Given the description of an element on the screen output the (x, y) to click on. 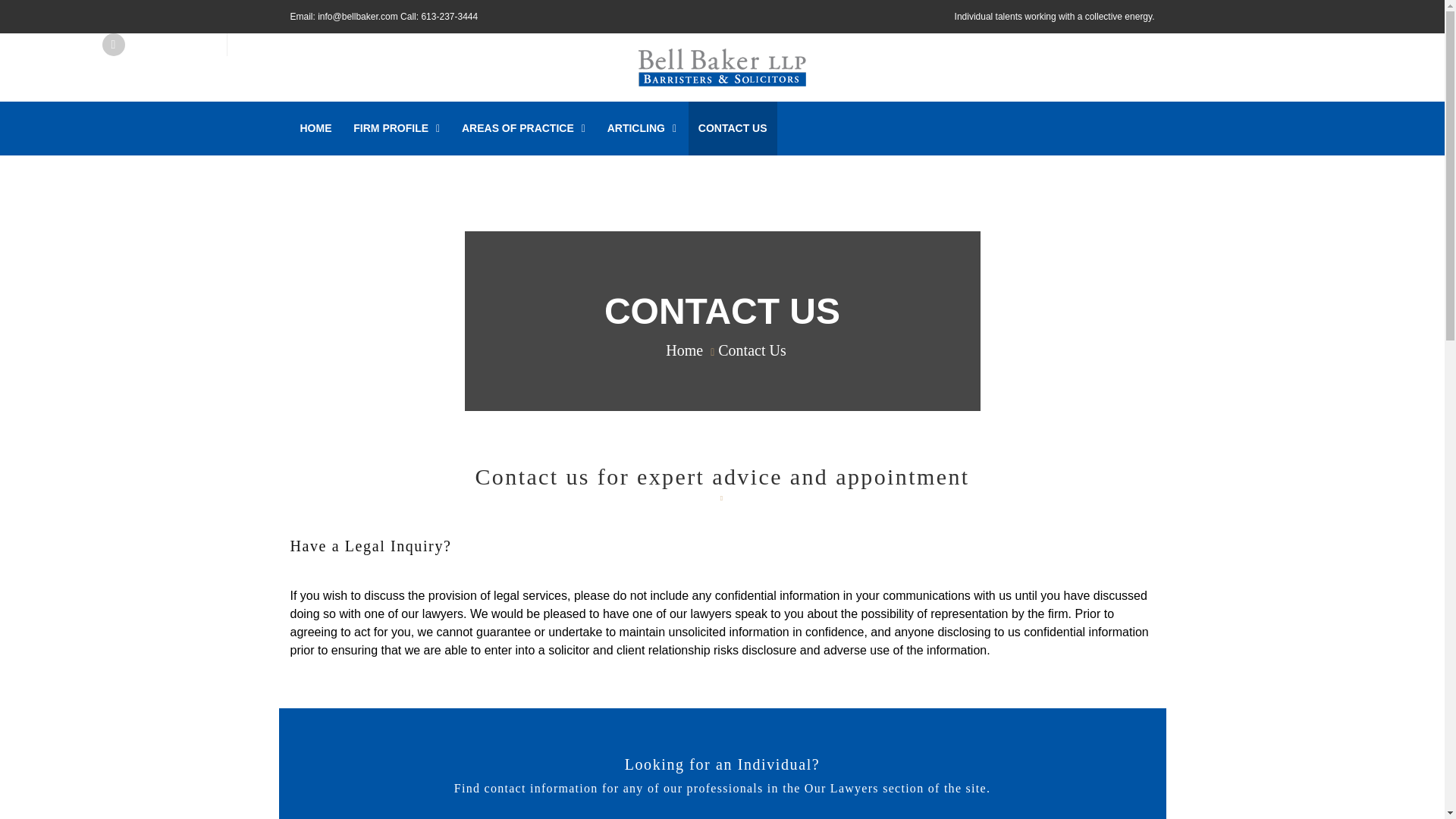
ARTICLING (640, 128)
Call: 613-237-3444 (438, 16)
HOME (314, 128)
FIRM PROFILE (396, 128)
Facebook (112, 44)
AREAS OF PRACTICE (523, 128)
